Given the description of an element on the screen output the (x, y) to click on. 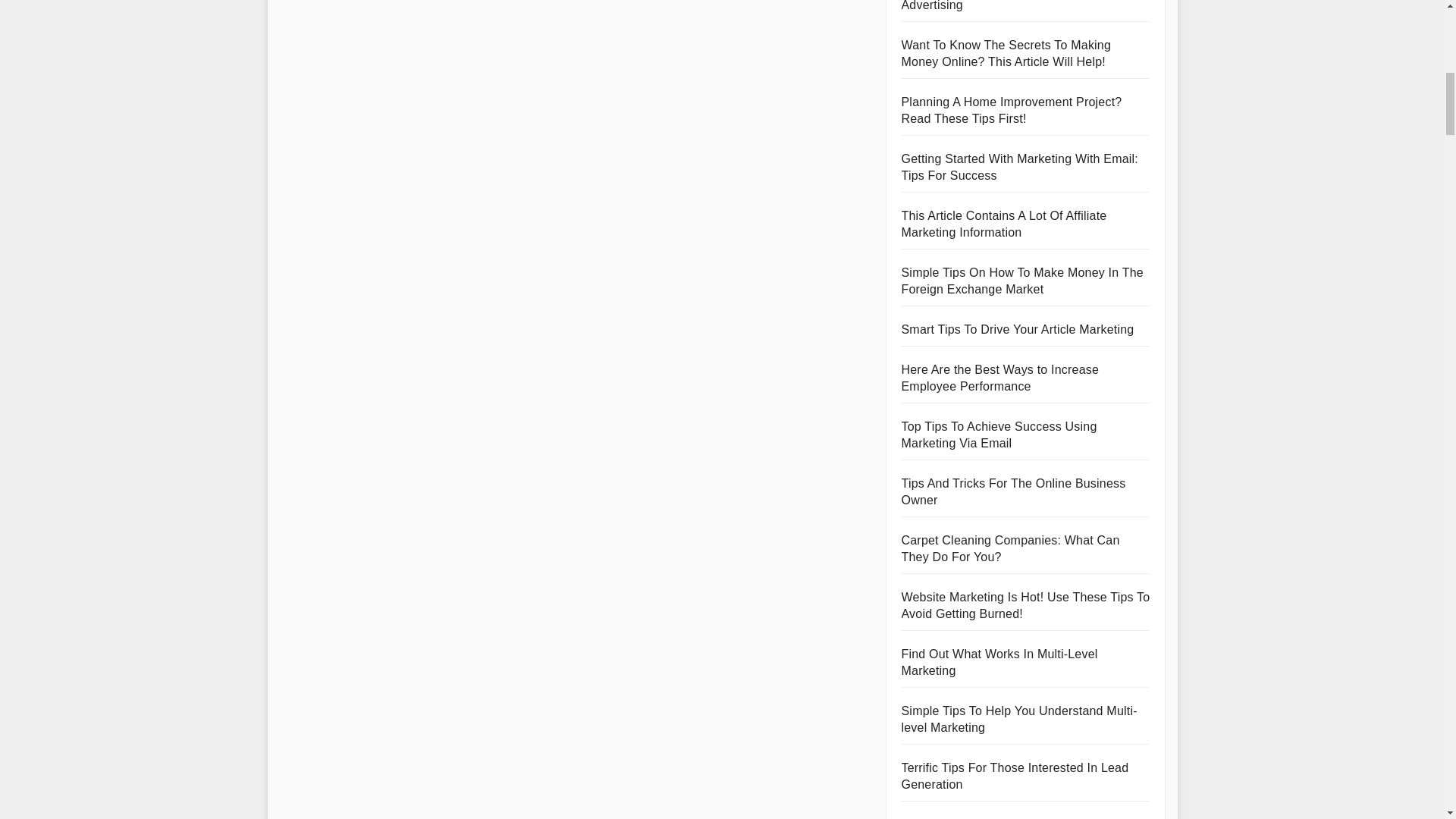
What You May Be Missing On Article Advertising (1001, 5)
Planning A Home Improvement Project? Read These Tips First! (1011, 110)
Getting Started With Marketing With Email: Tips For Success (1019, 166)
